Given the description of an element on the screen output the (x, y) to click on. 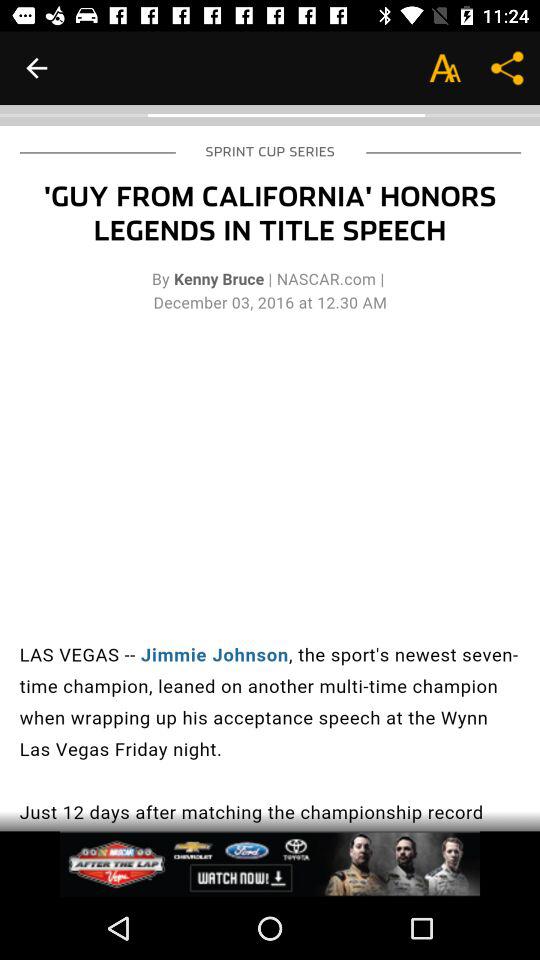
add the option (270, 864)
